Given the description of an element on the screen output the (x, y) to click on. 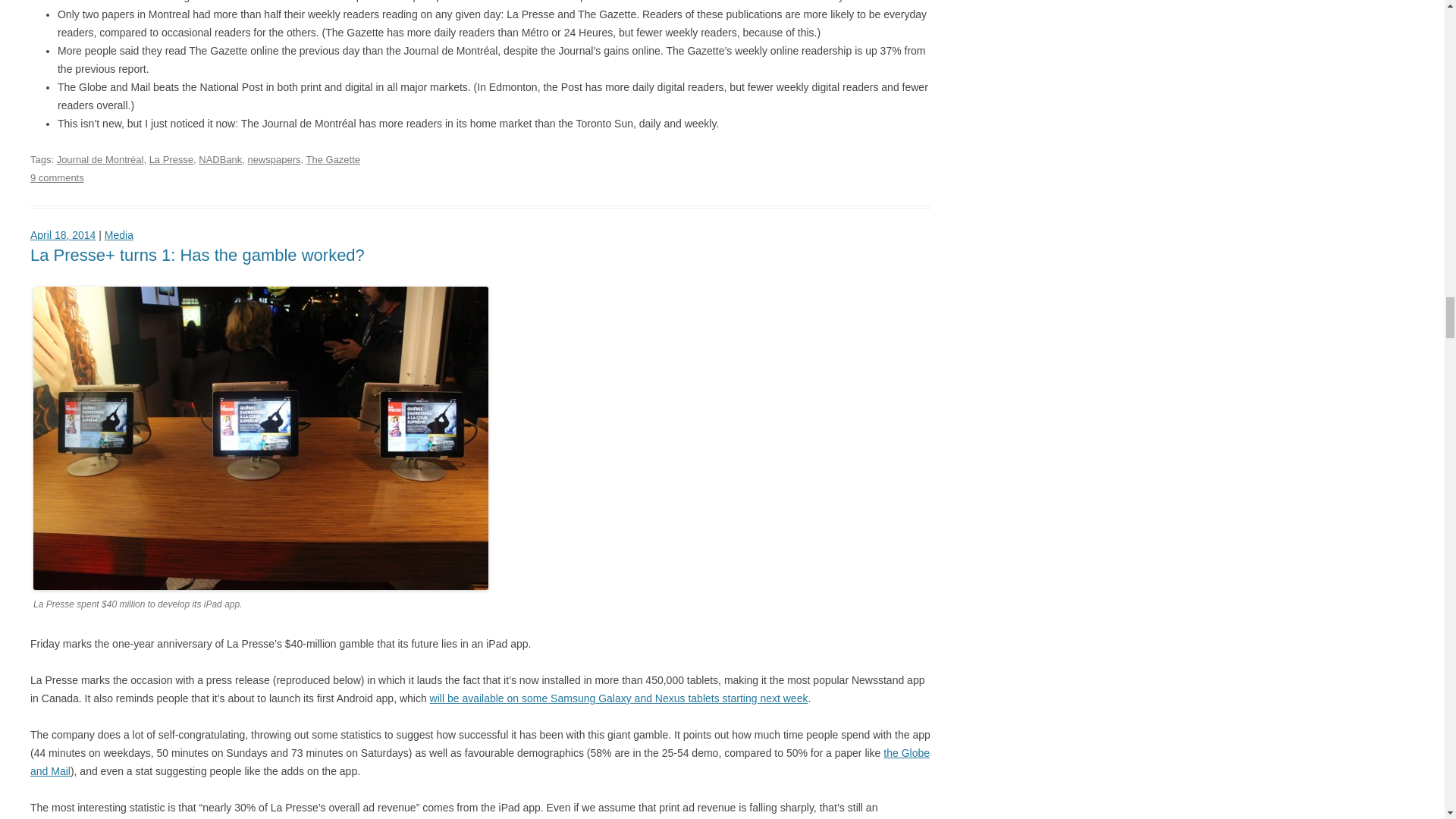
1:58 am (63, 234)
